Given the description of an element on the screen output the (x, y) to click on. 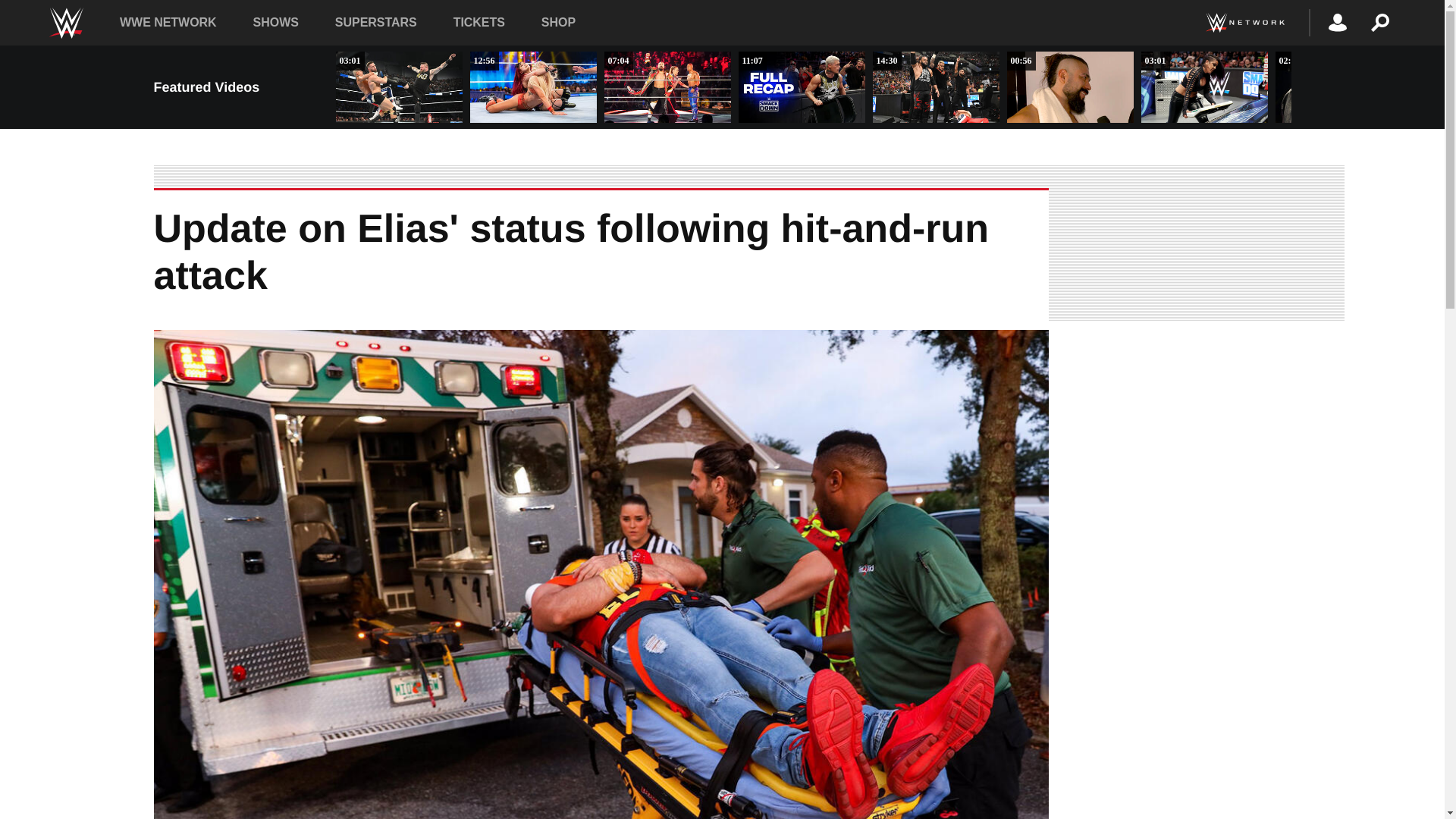
SHOP (558, 21)
SUPERSTARS (375, 21)
Account (1336, 22)
WWE NETWORK (167, 21)
Search icon (1380, 22)
Watch on WWE Network (1244, 22)
TICKETS (478, 21)
SHOWS (275, 21)
